Given the description of an element on the screen output the (x, y) to click on. 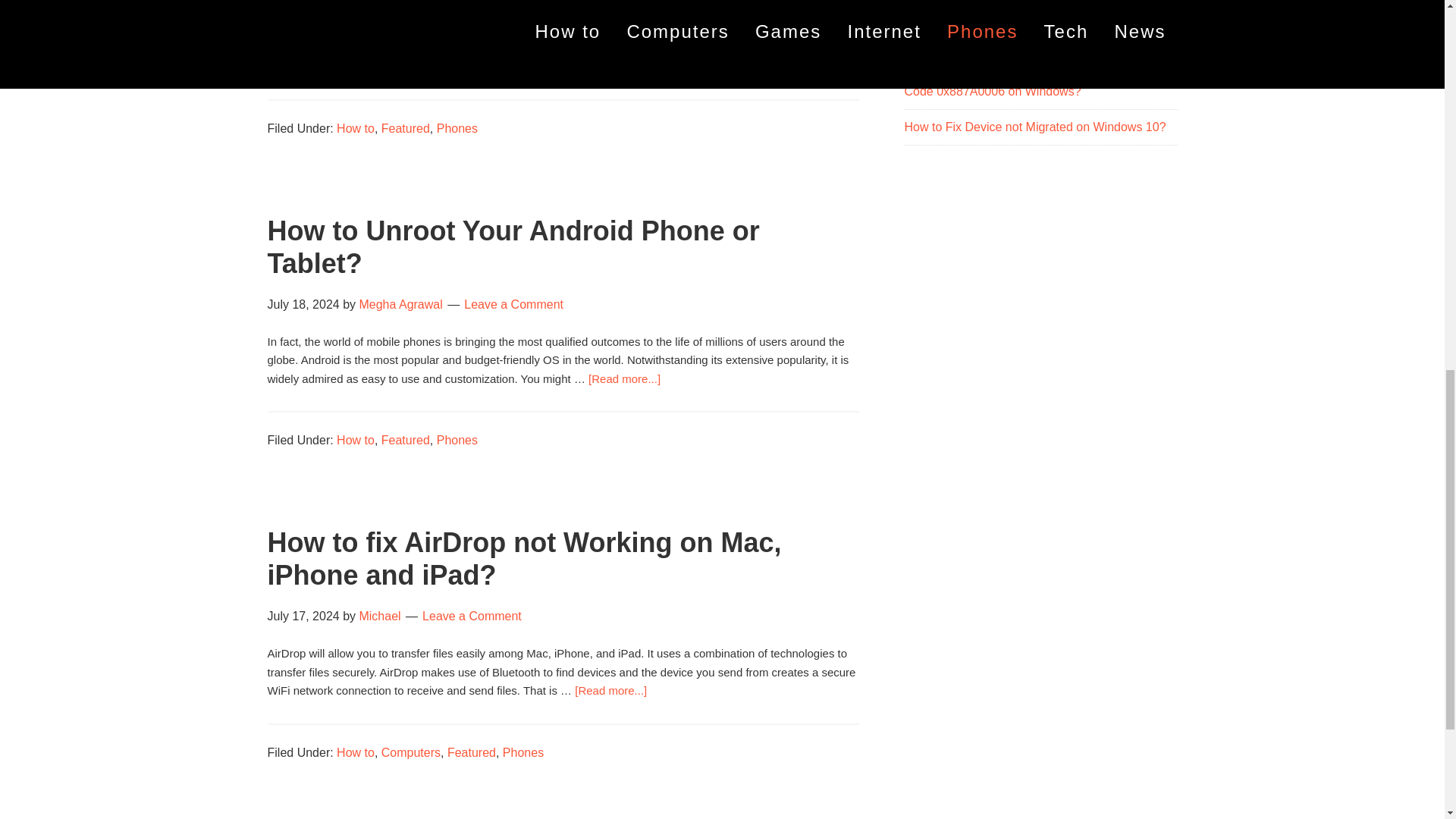
How to (355, 127)
Phones (456, 127)
Featured (405, 127)
How to Unroot Your Android Phone or Tablet? (512, 247)
